Given the description of an element on the screen output the (x, y) to click on. 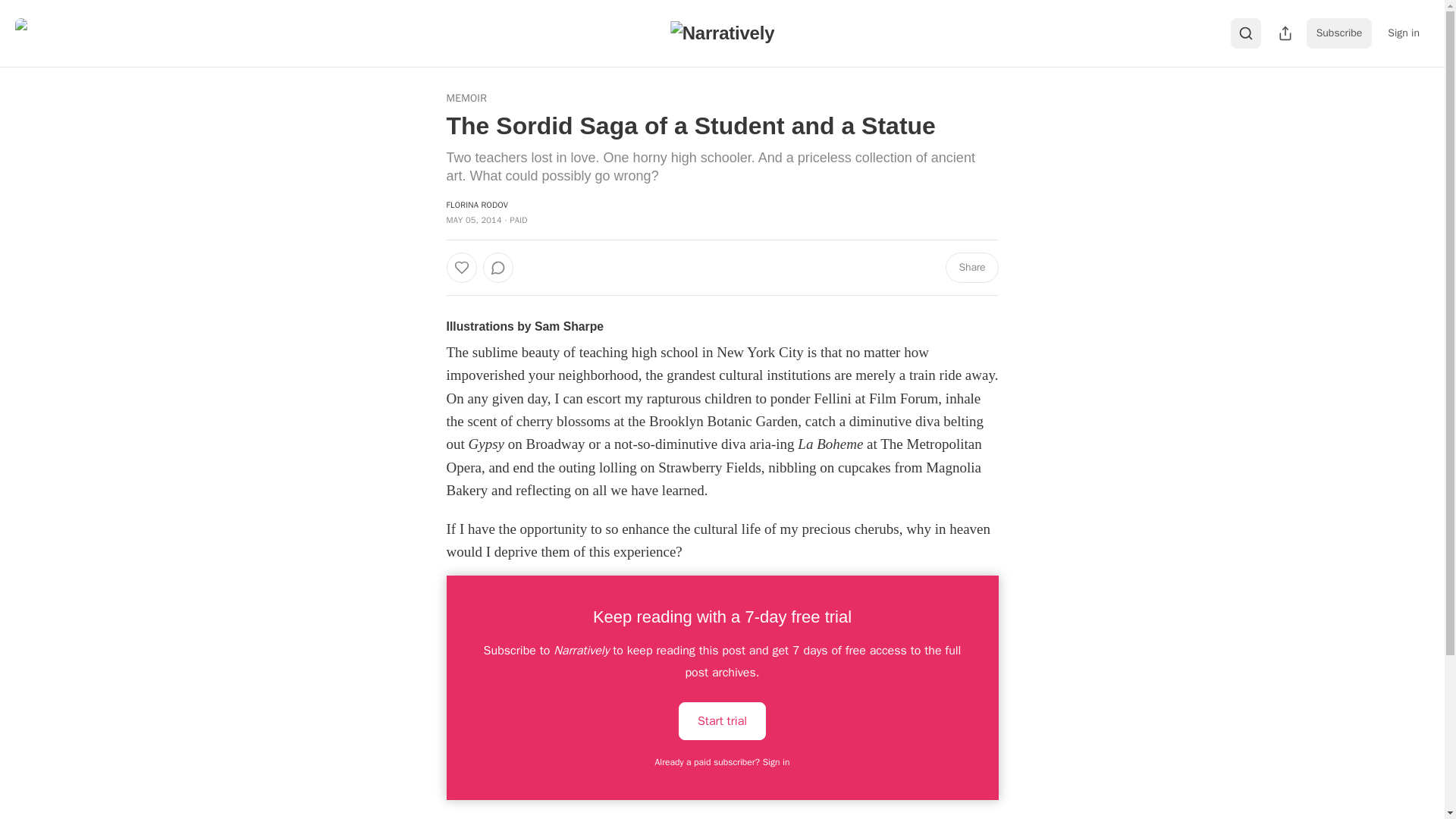
Subscribe (1339, 33)
Start trial (721, 720)
Already a paid subscriber? Sign in (722, 761)
Sign in (1403, 33)
MEMOIR (465, 98)
Start trial (721, 720)
FLORINA RODOV (476, 204)
Share (970, 267)
